Given the description of an element on the screen output the (x, y) to click on. 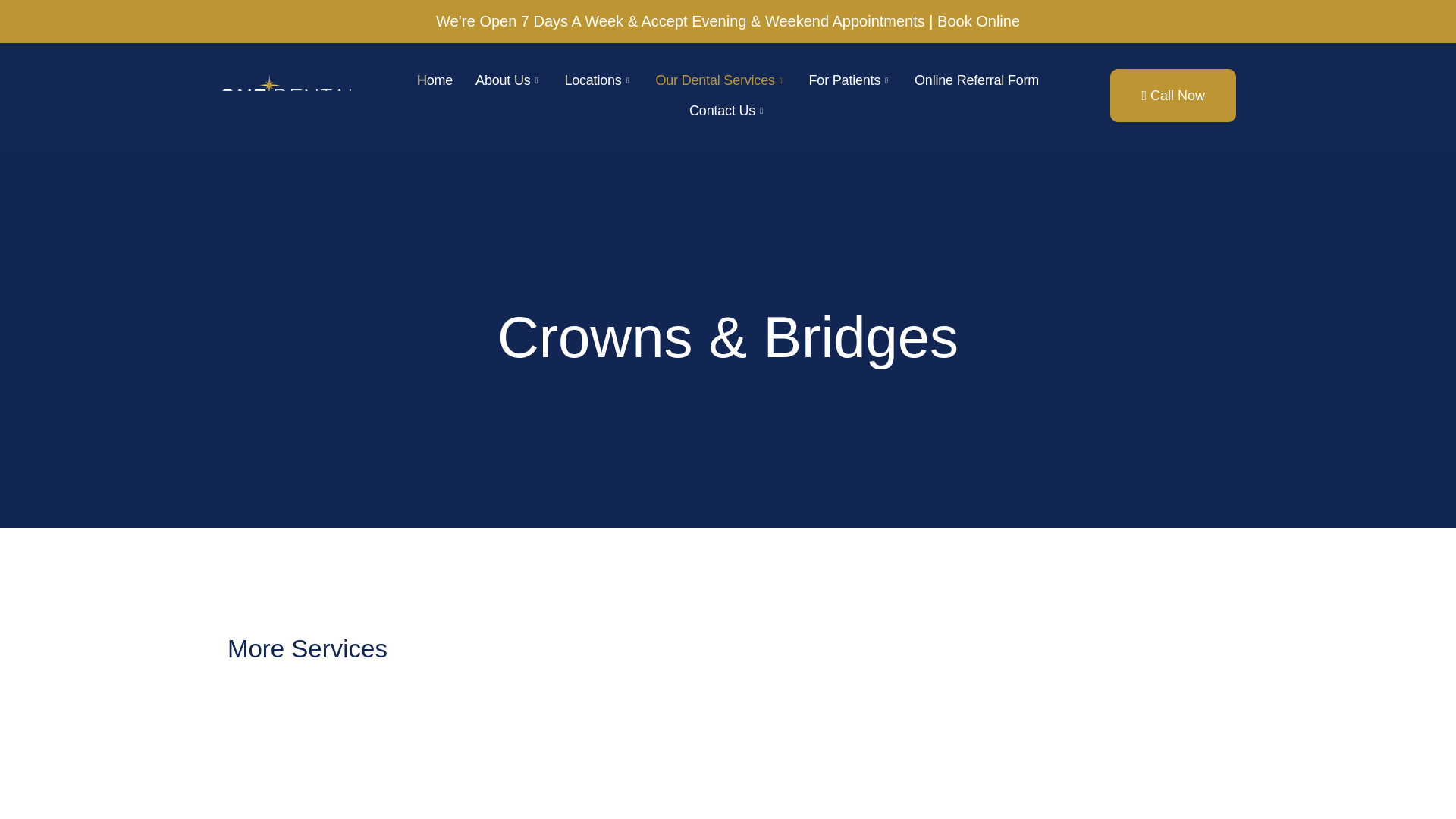
About Us (508, 80)
Book Online (978, 21)
Locations (598, 80)
Our Dental Services (719, 80)
Home (435, 80)
